Given the description of an element on the screen output the (x, y) to click on. 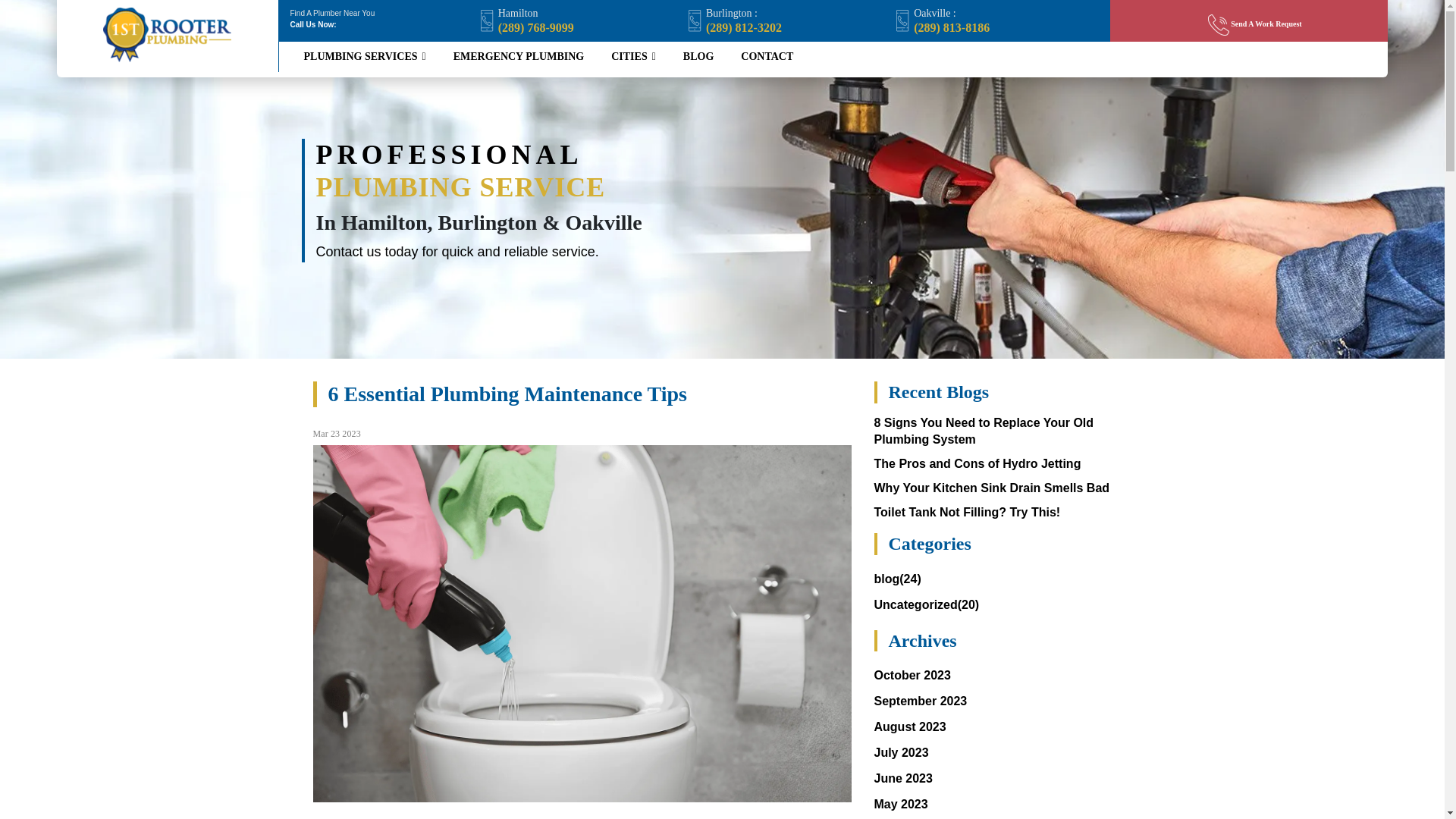
June 2023 Element type: text (902, 777)
(289) 812-3202 Element type: text (743, 27)
EMERGENCY PLUMBING Element type: text (518, 56)
(289) 768-9099 Element type: text (536, 27)
PLUMBING SERVICES Element type: text (364, 56)
August 2023 Element type: text (909, 726)
Toilet Tank Not Filling? Try This! Element type: text (966, 511)
CONTACT Element type: text (766, 56)
CITIES Element type: text (633, 56)
The Pros and Cons of Hydro Jetting Element type: text (976, 463)
October 2023 Element type: text (911, 674)
BLOG Element type: text (698, 56)
May 2023 Element type: text (900, 803)
Why Your Kitchen Sink Drain Smells Bad Element type: text (991, 487)
Uncategorized(20) Element type: text (926, 604)
blog(24) Element type: text (896, 578)
8 Signs You Need to Replace Your Old Plumbing System Element type: text (983, 430)
Send A Work Request Element type: text (1255, 23)
July 2023 Element type: text (900, 752)
September 2023 Element type: text (919, 700)
(289) 813-8186 Element type: text (951, 27)
